Given the description of an element on the screen output the (x, y) to click on. 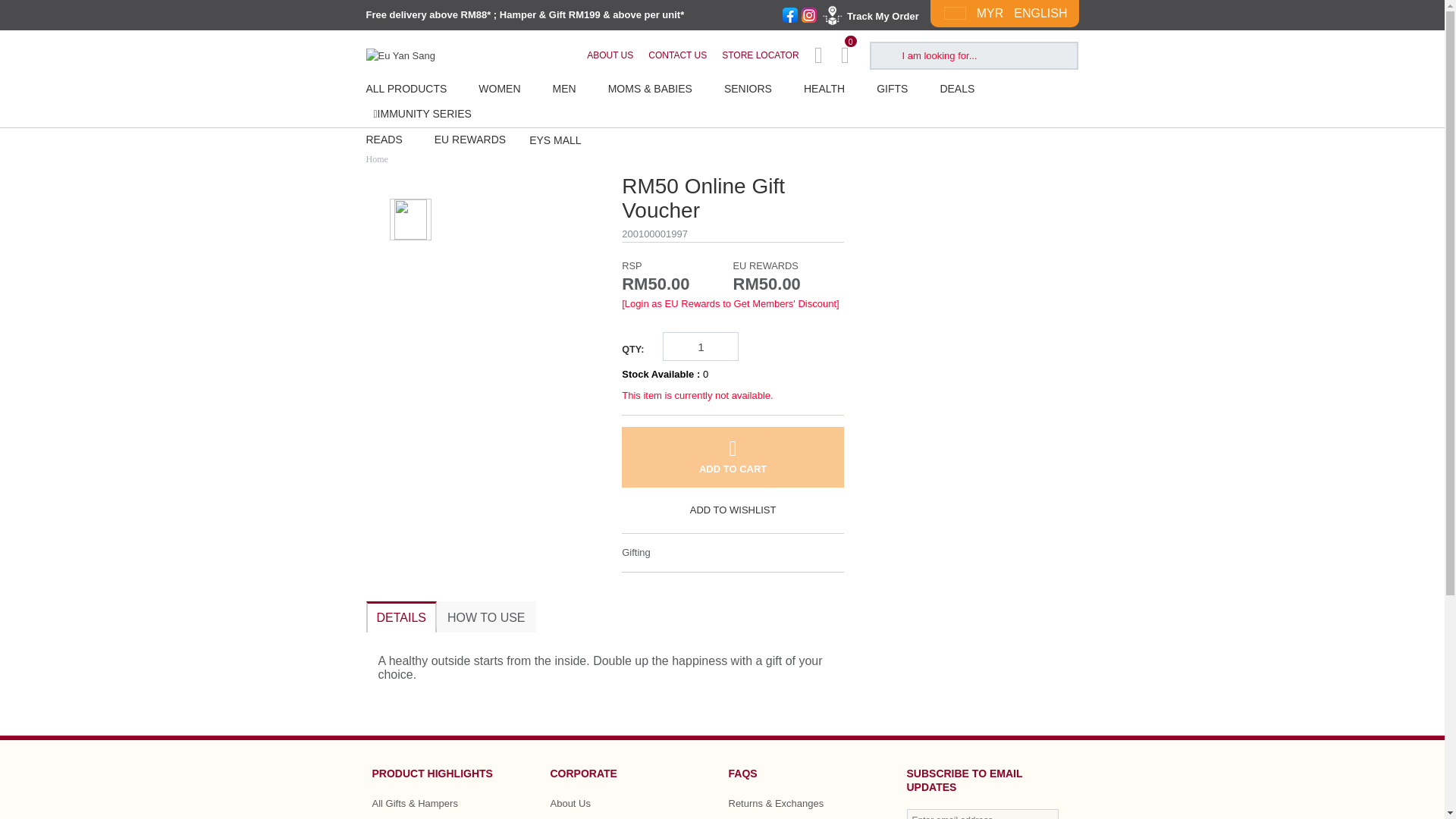
About Us (609, 54)
STORE LOCATOR (759, 54)
0 (852, 55)
Contact Us (676, 54)
ABOUT US (609, 54)
CONTACT US (676, 54)
1 (700, 346)
Store Locator (759, 54)
Eu Yan Sang (399, 54)
Track My Order (867, 14)
Cart 0 Items (852, 55)
ALL PRODUCTS (414, 88)
